Given the description of an element on the screen output the (x, y) to click on. 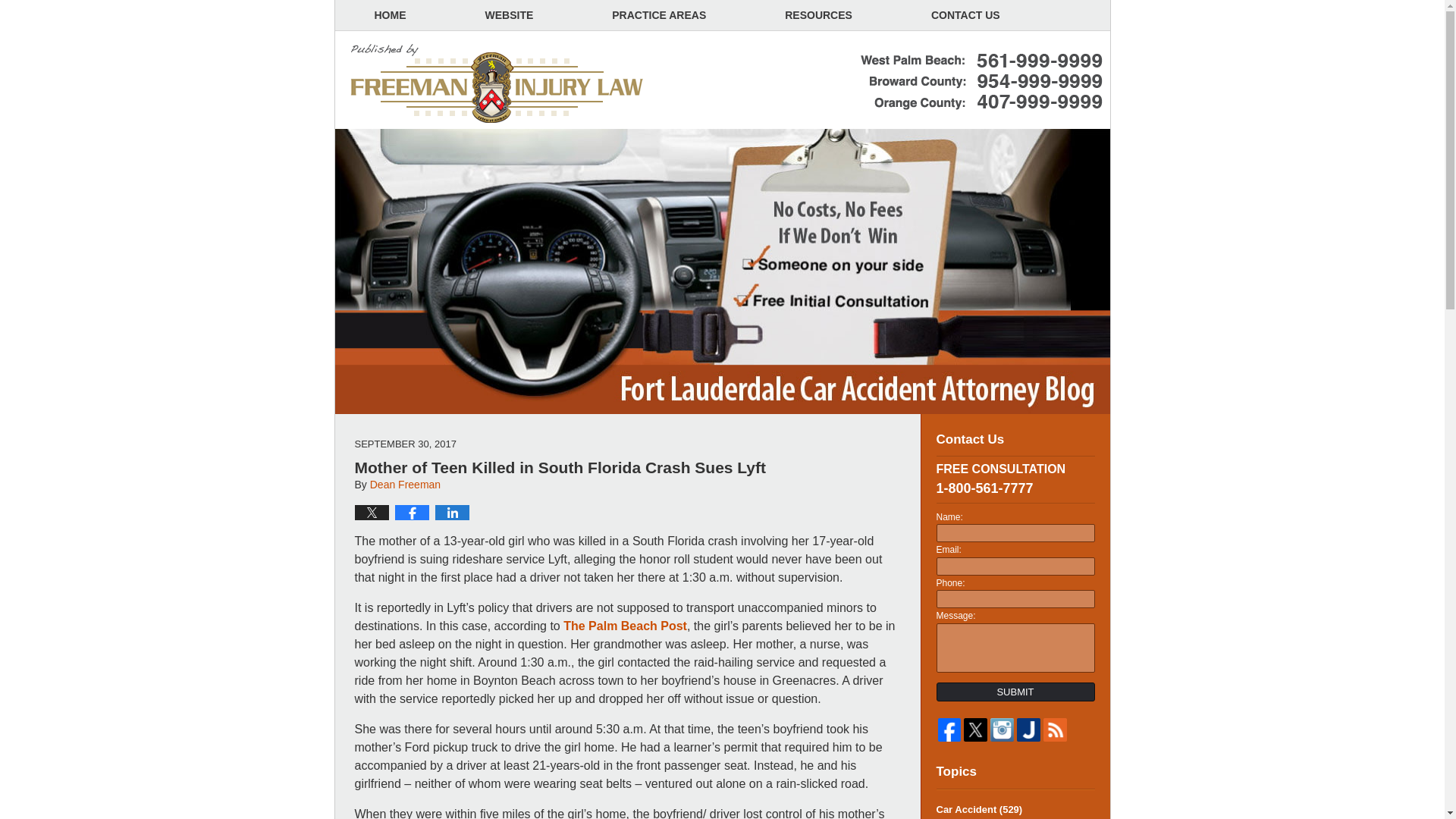
Twitter (975, 730)
Twitter (975, 730)
Justia (1028, 730)
HOME (389, 15)
Dean Freeman (405, 484)
Feed (1055, 730)
Fort Lauderdale Car Accident Attorney Blog (497, 84)
SUBMIT (1015, 691)
RESOURCES (818, 15)
Feed (1055, 730)
PRACTICE AREAS (658, 15)
WEBSITE (509, 15)
CONTACT US (965, 15)
Instagram (1001, 730)
Facebook (948, 730)
